Given the description of an element on the screen output the (x, y) to click on. 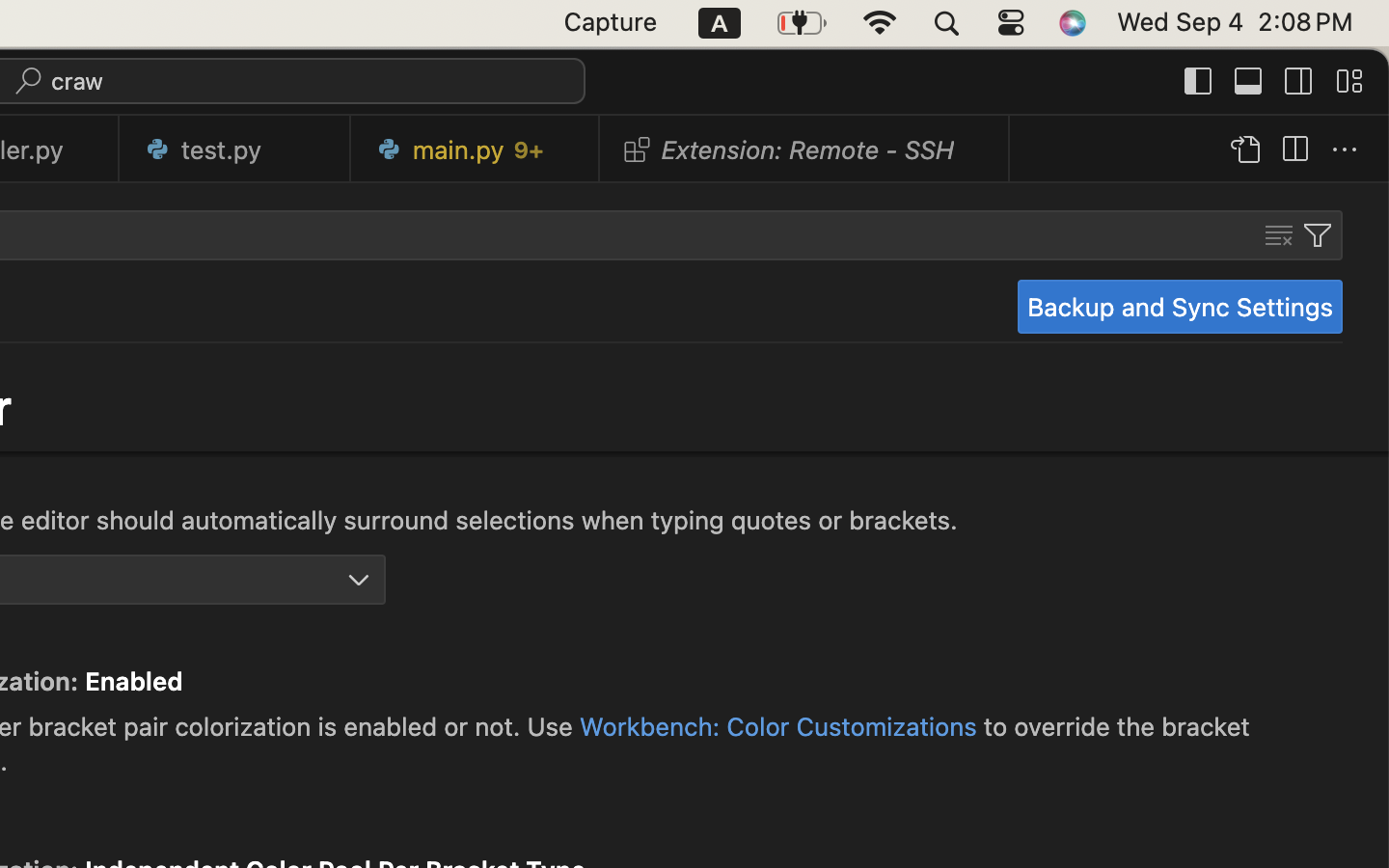
 Element type: AXStaticText (1317, 234)
Workbench: Color Customizations Element type: AXStaticText (778, 725)
 Element type: AXCheckBox (1299, 80)
0 main.py   9+ Element type: AXRadioButton (475, 149)
 Element type: AXButton (1294, 150)
